Given the description of an element on the screen output the (x, y) to click on. 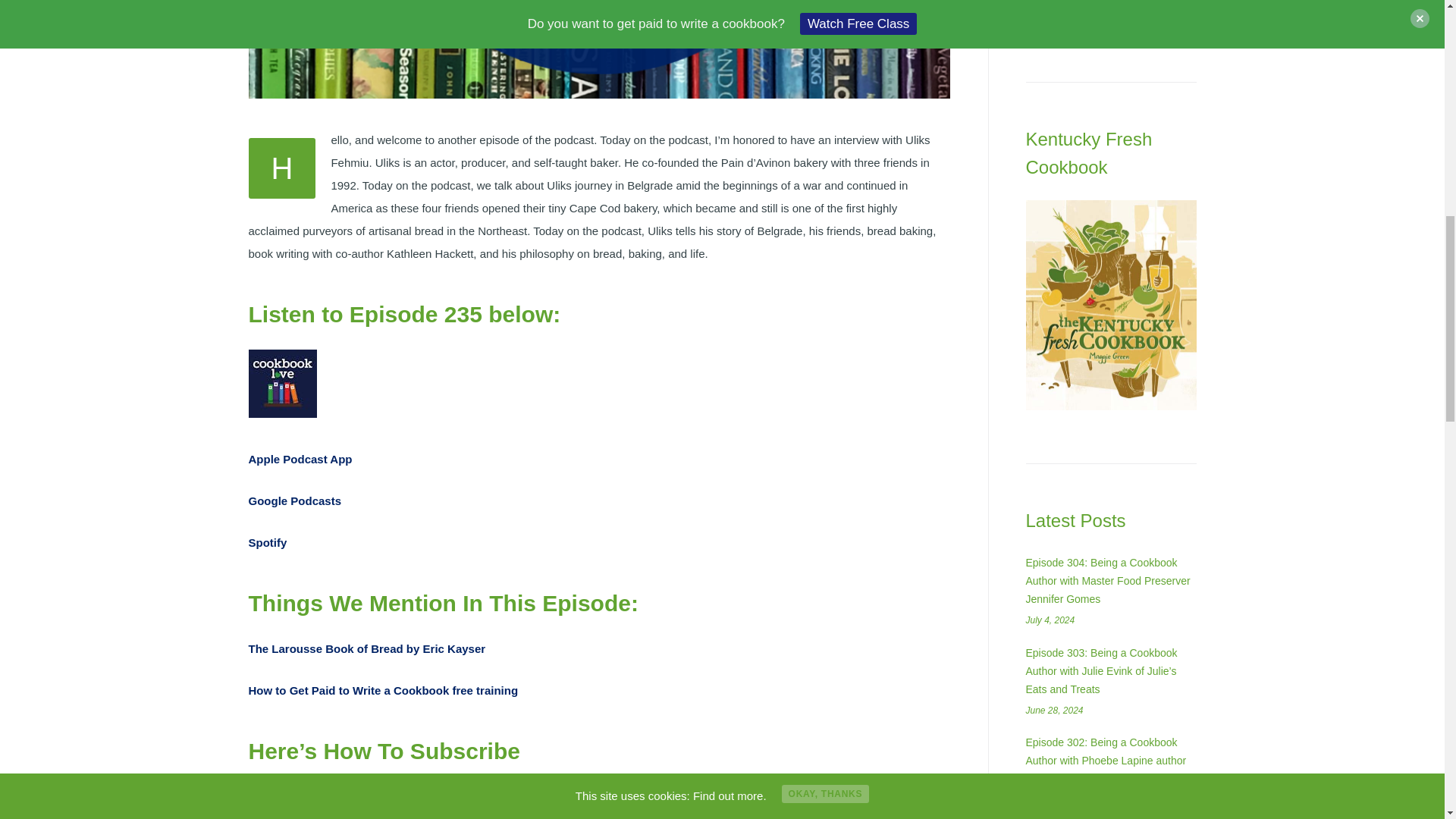
The Larousse Book of Bread by Eric Kayser (367, 648)
Click here to subscribe to the podcast in iTunes. (593, 805)
Google Podcasts (295, 500)
Apple Podcast App (300, 459)
Spotify (267, 542)
How to Get Paid to Write a Cookbook free training (383, 689)
